Given the description of an element on the screen output the (x, y) to click on. 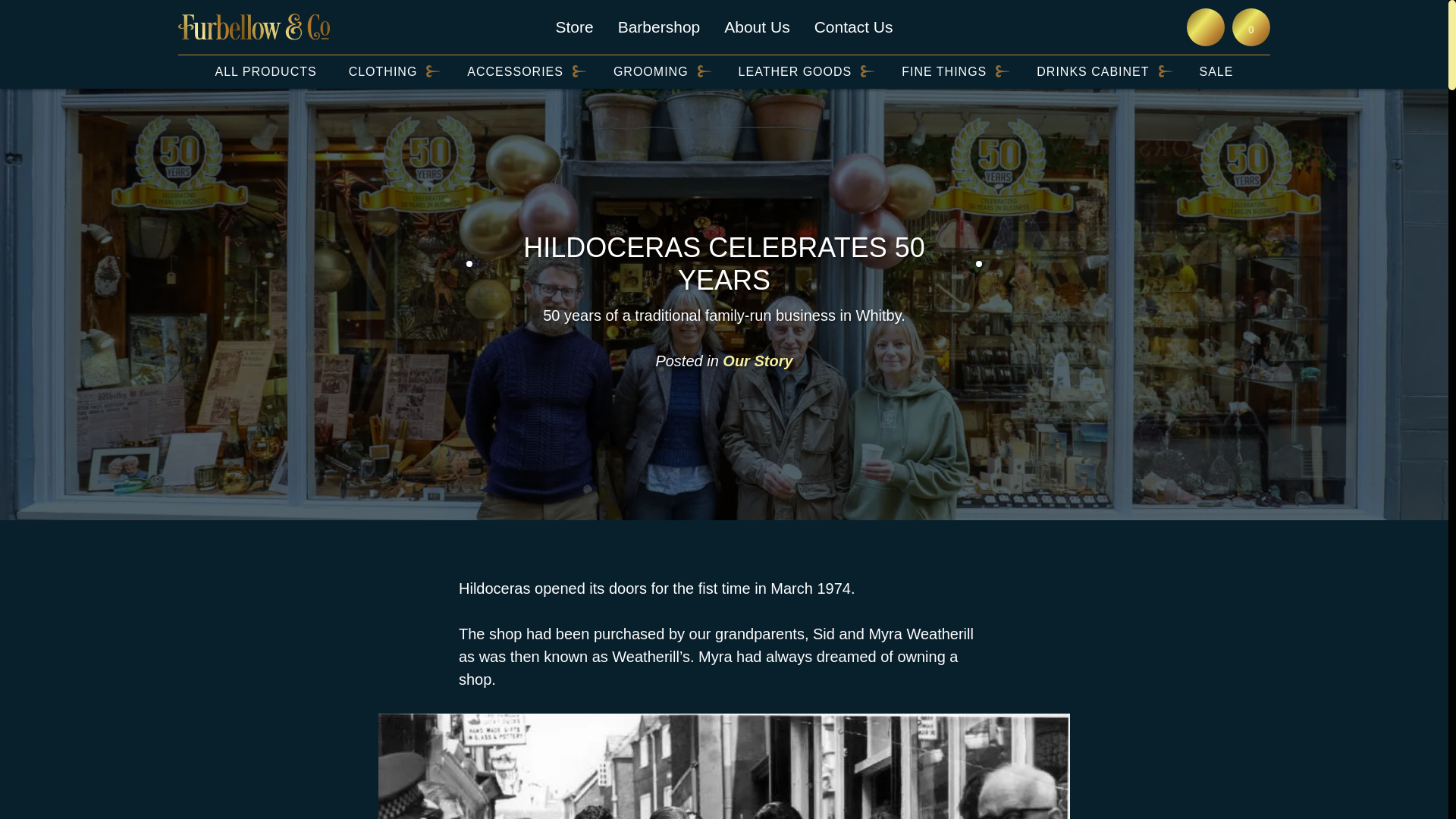
Store (573, 27)
GROOMING (650, 71)
Barbershop (658, 27)
ALL PRODUCTS (266, 71)
About Us (756, 27)
Contact Us (853, 27)
LEATHER GOODS (794, 71)
ACCESSORIES (515, 71)
FINE THINGS (944, 71)
CLOTHING (383, 71)
